Given the description of an element on the screen output the (x, y) to click on. 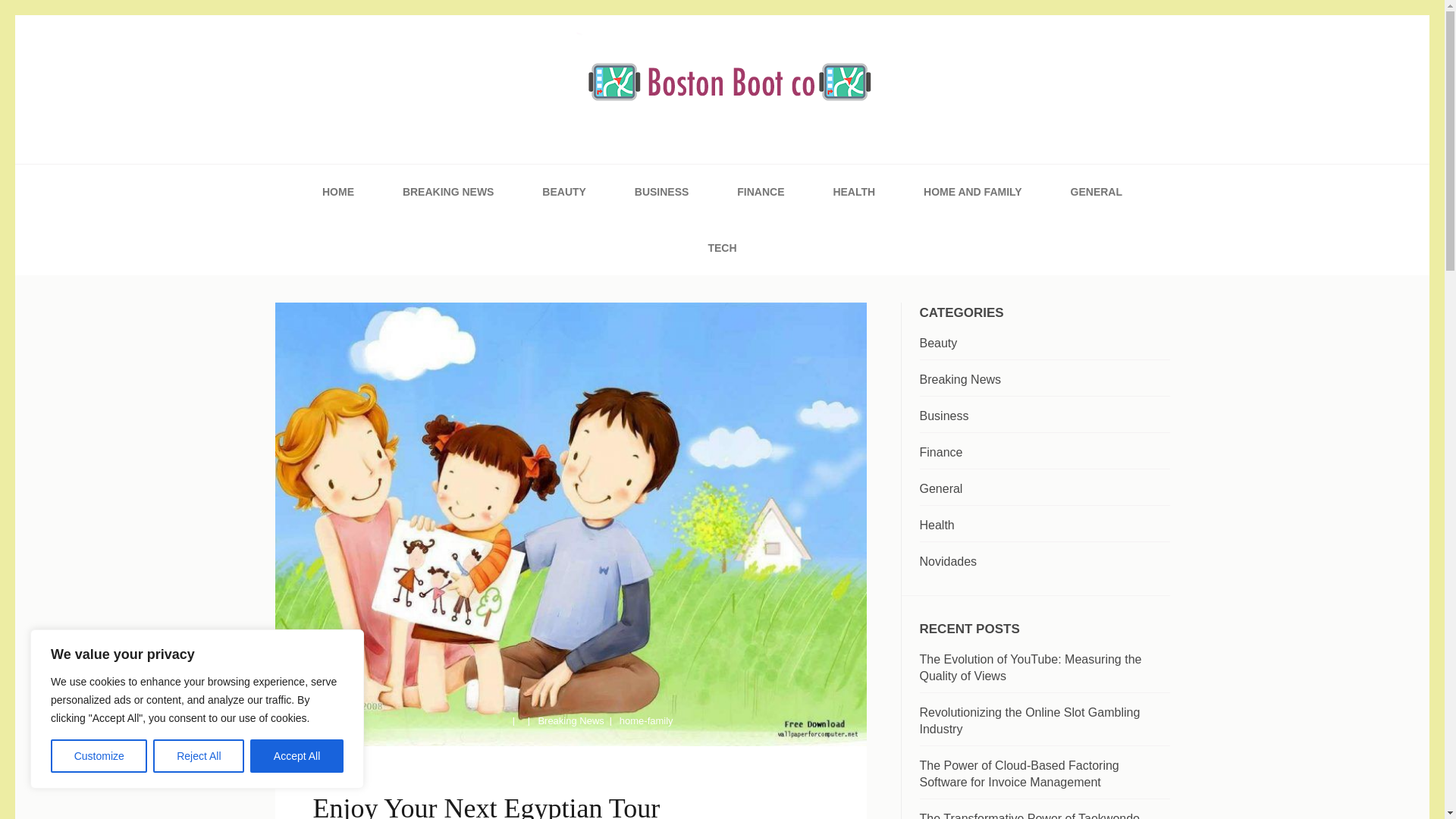
Reject All (198, 756)
BUSINESS (661, 191)
GENERAL (1096, 191)
Accept All (296, 756)
HOME AND FAMILY (972, 191)
Boston Boot Co (401, 164)
BREAKING NEWS (449, 191)
Customize (98, 756)
